Given the description of an element on the screen output the (x, y) to click on. 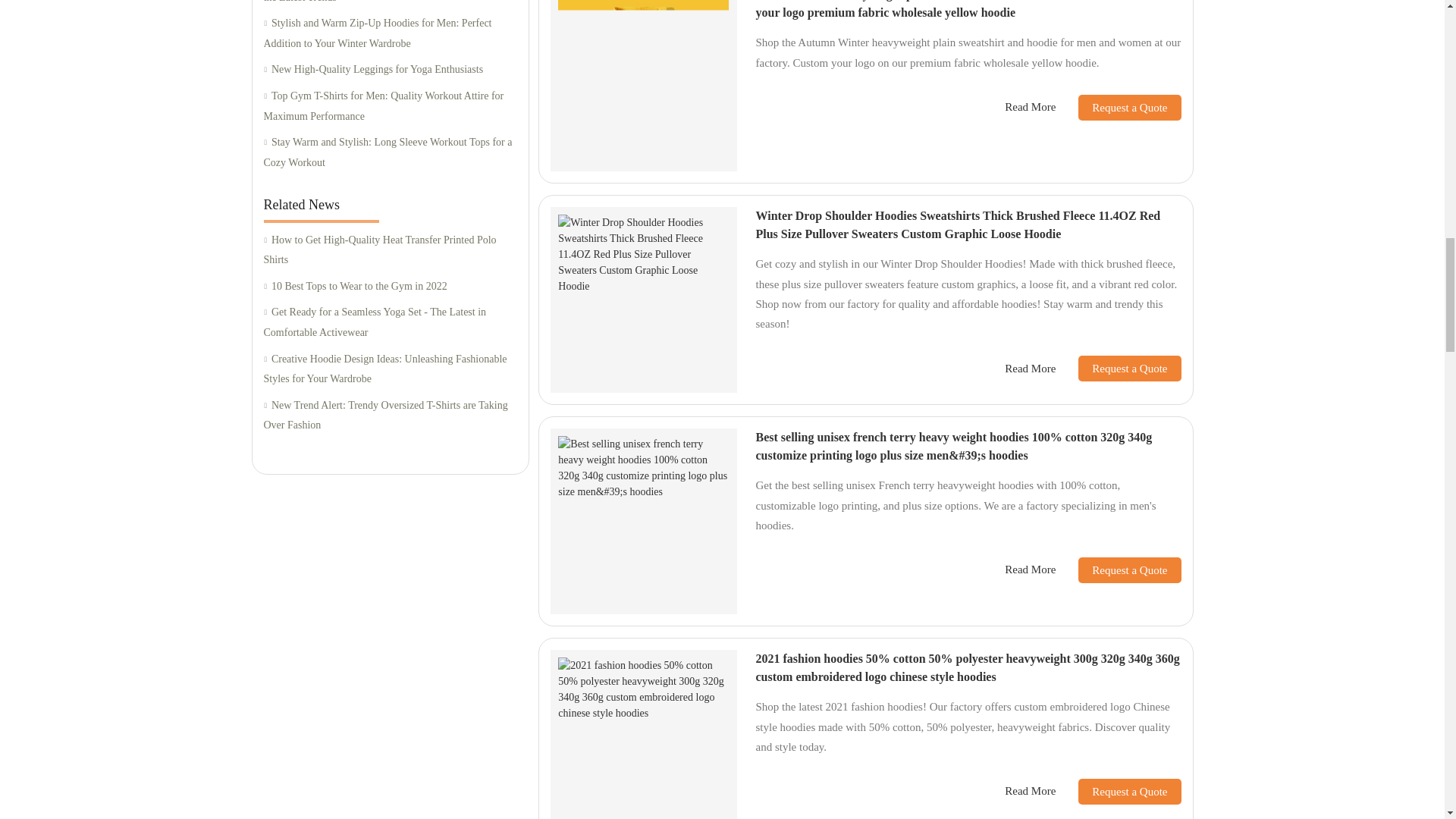
New High-Quality Leggings for Yoga Enthusiasts (389, 69)
How to Get High-Quality Heat Transfer Printed Polo Shirts (389, 250)
10 Best Tops to Wear to the Gym in 2022 (389, 286)
